Given the description of an element on the screen output the (x, y) to click on. 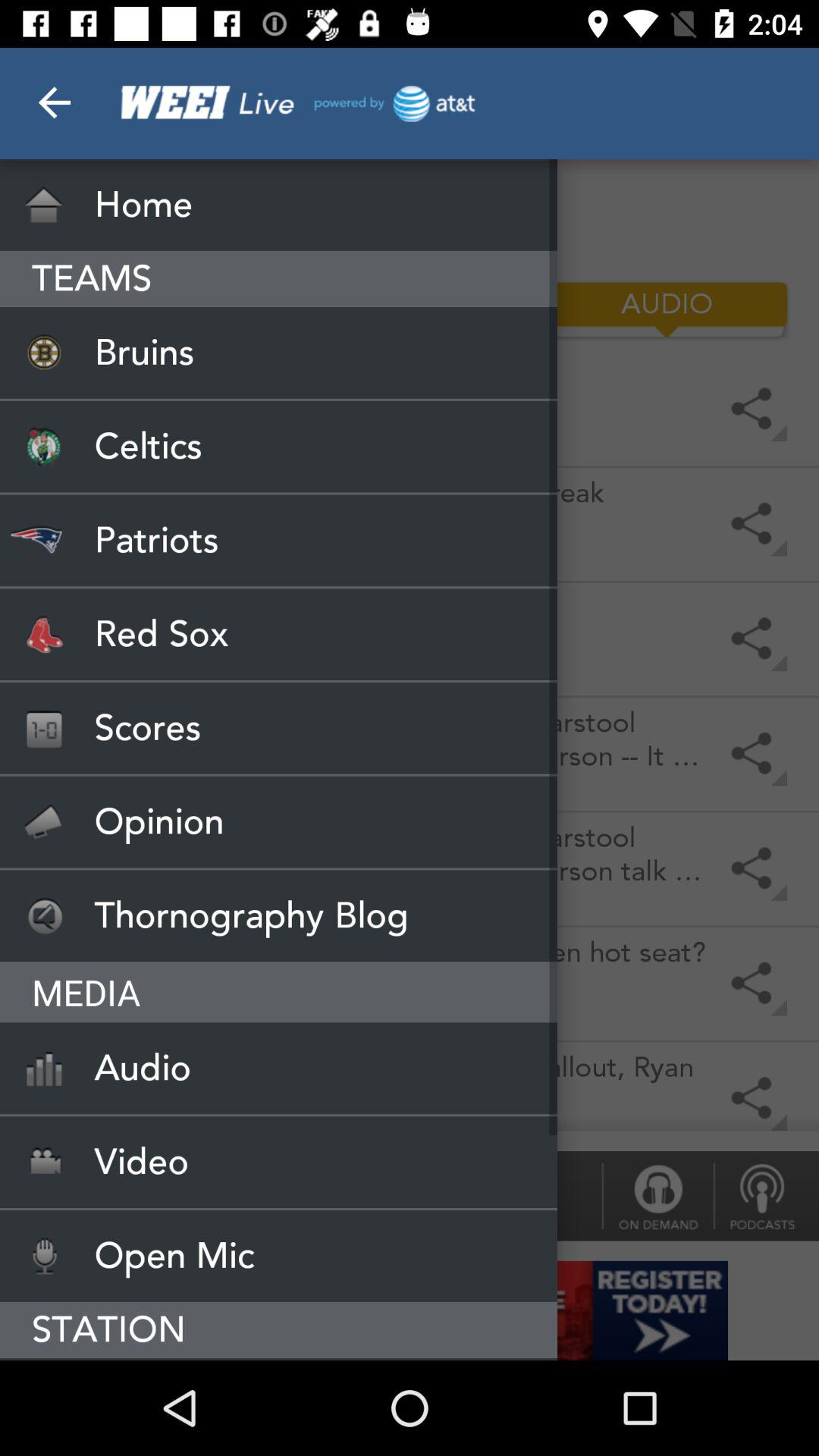
banner advertisement (409, 1310)
